Given the description of an element on the screen output the (x, y) to click on. 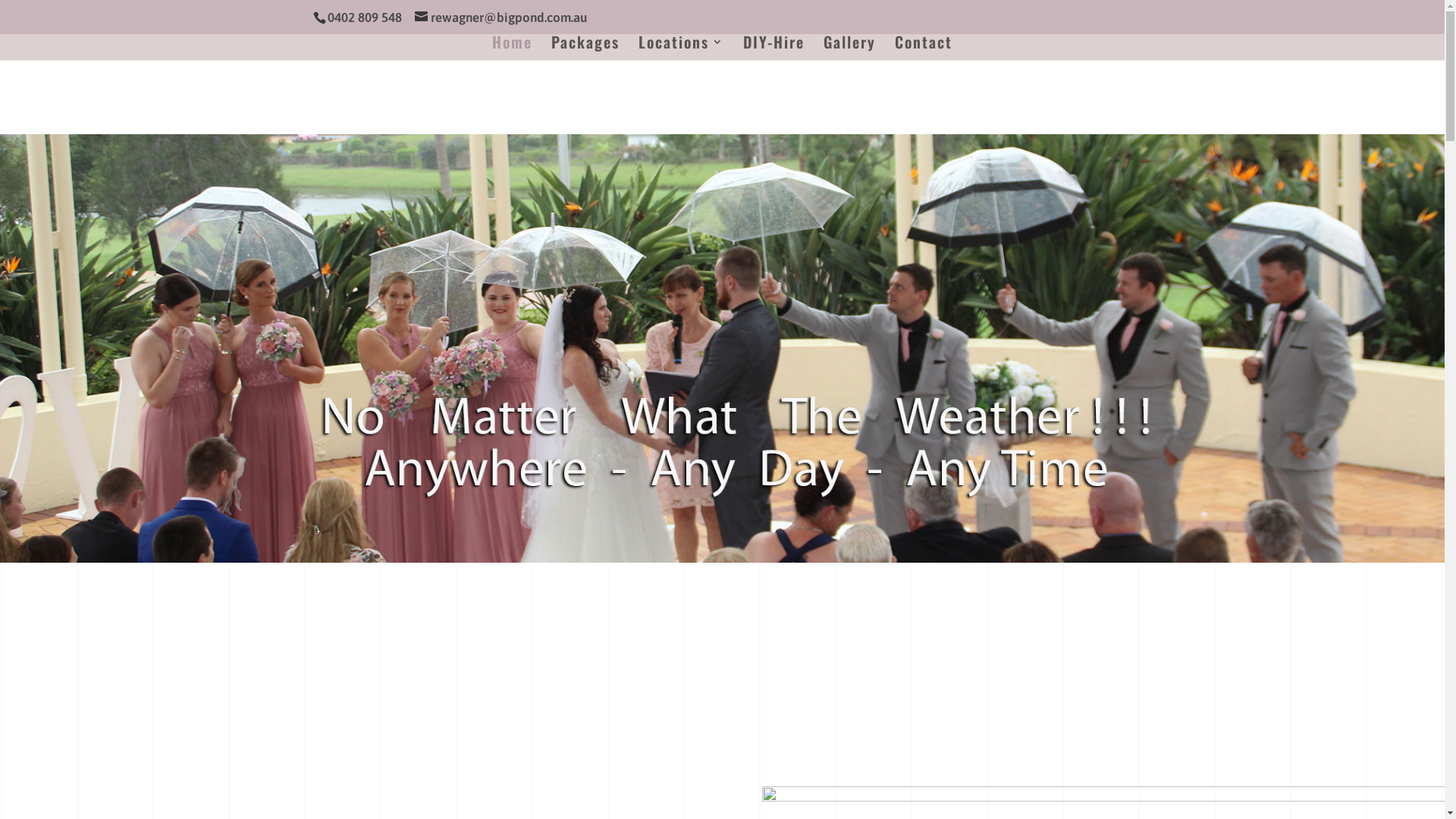
Home Element type: text (512, 47)
Contact Element type: text (923, 47)
Locations Element type: text (681, 47)
DIY-Hire Element type: text (773, 47)
Gallery Element type: text (849, 47)
Packages Element type: text (585, 47)
rewagner@bigpond.com.au Element type: text (500, 17)
